Given the description of an element on the screen output the (x, y) to click on. 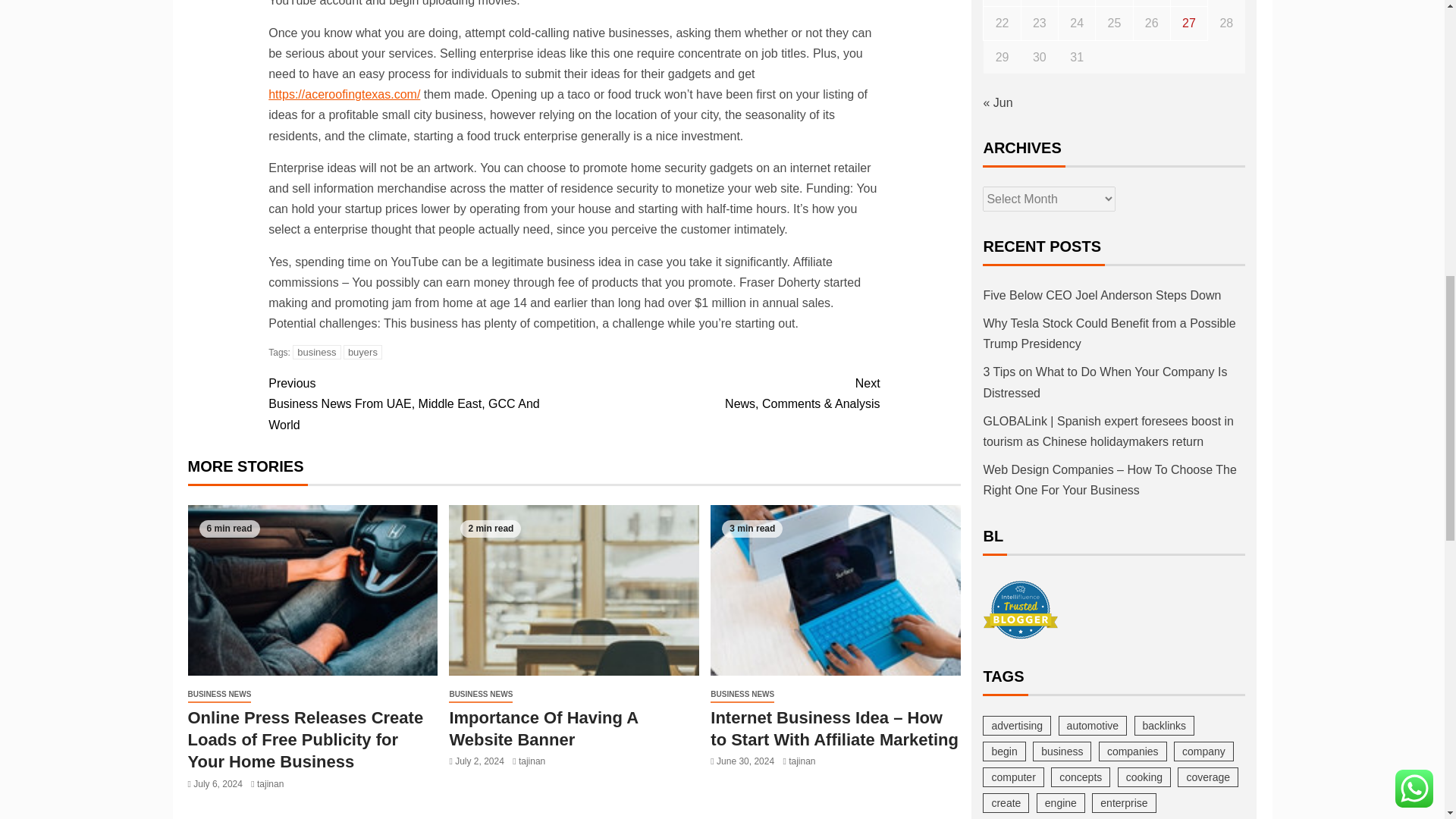
Importance Of Having A Website Banner (573, 590)
buyers (362, 351)
business (316, 351)
